Given the description of an element on the screen output the (x, y) to click on. 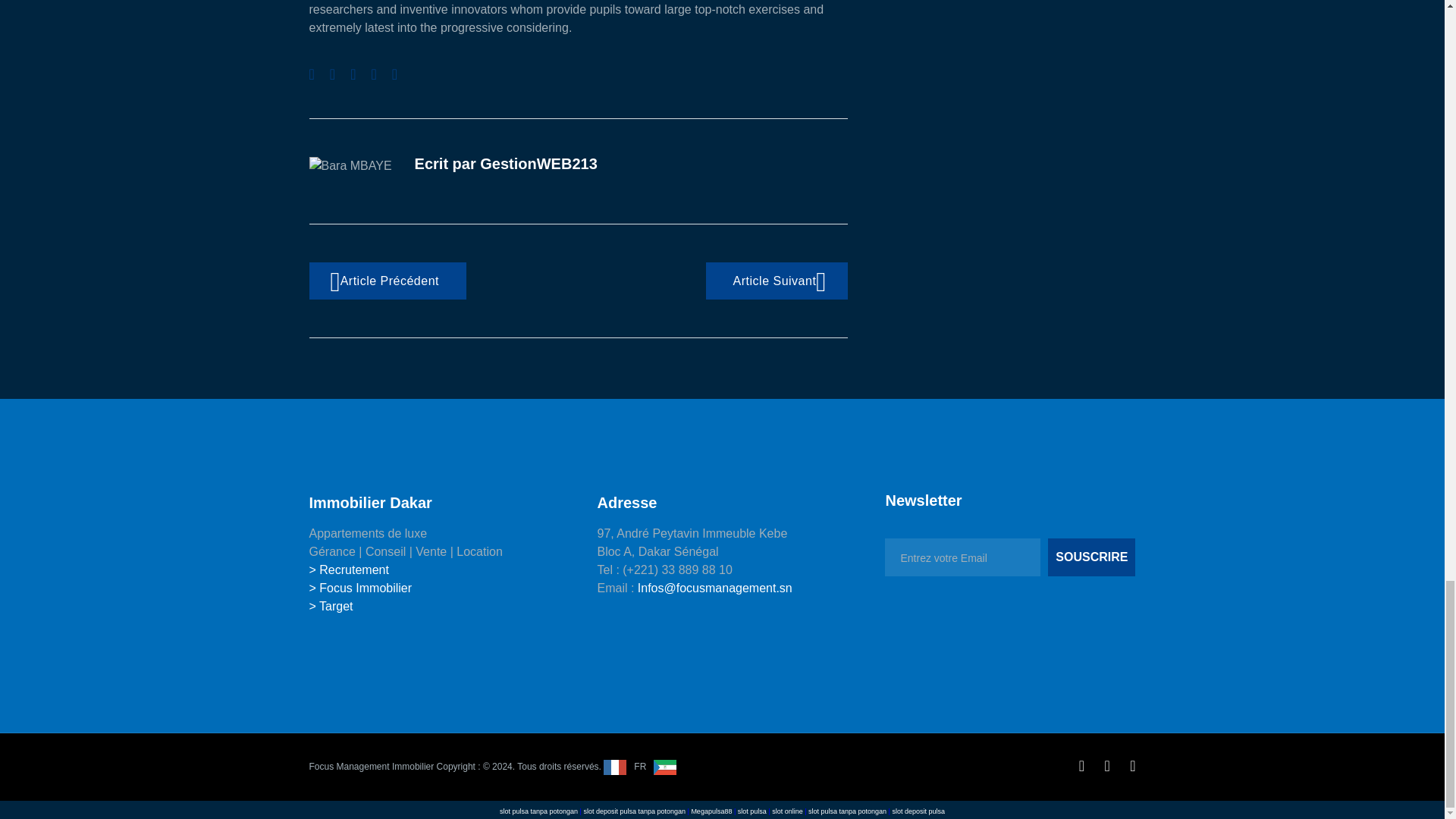
Partager sur Pinterest (394, 73)
Partager sur LinkedIn (373, 73)
Articles par GestionWEB213 (538, 163)
Partager sur Twitter (332, 73)
Language switcher : e (671, 766)
Partager sur Facebook (311, 73)
